Given the description of an element on the screen output the (x, y) to click on. 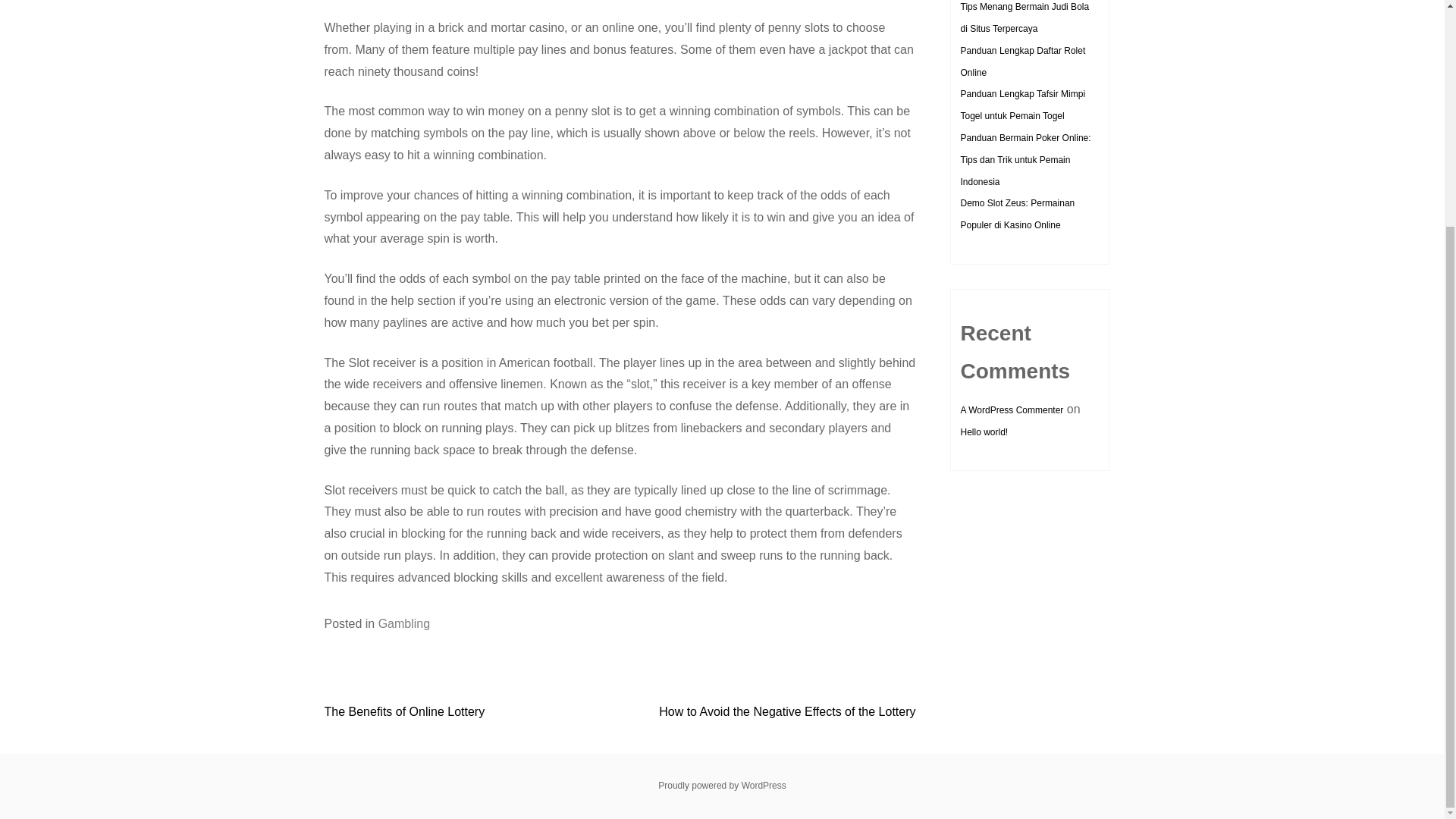
Panduan Lengkap Daftar Rolet Online (1021, 61)
The Benefits of Online Lottery (404, 711)
Proudly powered by WordPress (722, 785)
Panduan Lengkap Tafsir Mimpi Togel untuk Pemain Togel (1021, 104)
Demo Slot Zeus: Permainan Populer di Kasino Online (1016, 214)
How to Avoid the Negative Effects of the Lottery (787, 711)
A WordPress Commenter (1010, 409)
Gambling (403, 623)
Hello world! (983, 431)
Tips Menang Bermain Judi Bola di Situs Terpercaya (1024, 17)
